Given the description of an element on the screen output the (x, y) to click on. 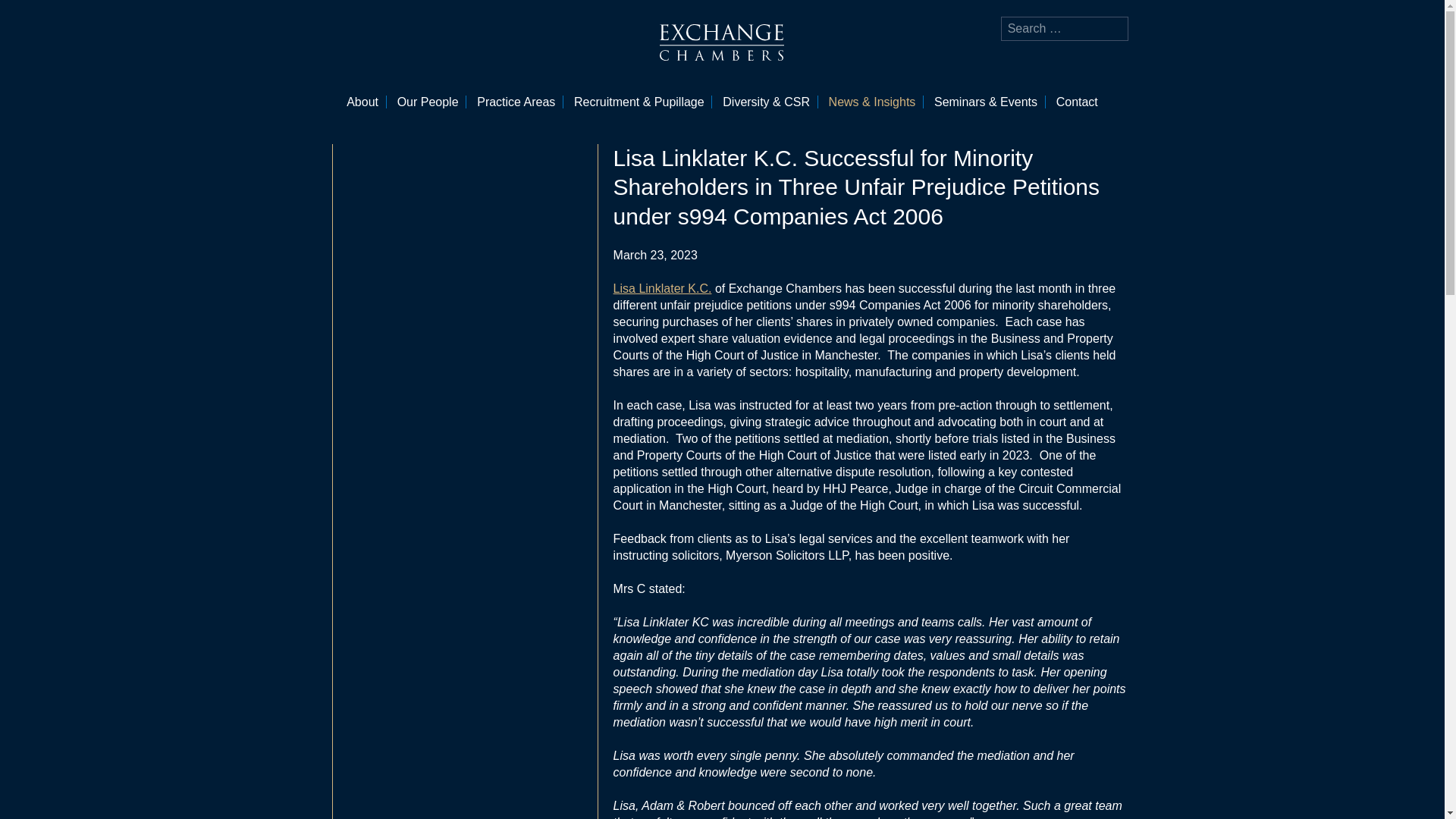
Search for: (1064, 28)
Practice Areas (515, 101)
Contact (1077, 101)
About (362, 101)
Our People (427, 101)
Exchange Chambers (721, 42)
Lisa Linklater K.C. (661, 287)
